Given the description of an element on the screen output the (x, y) to click on. 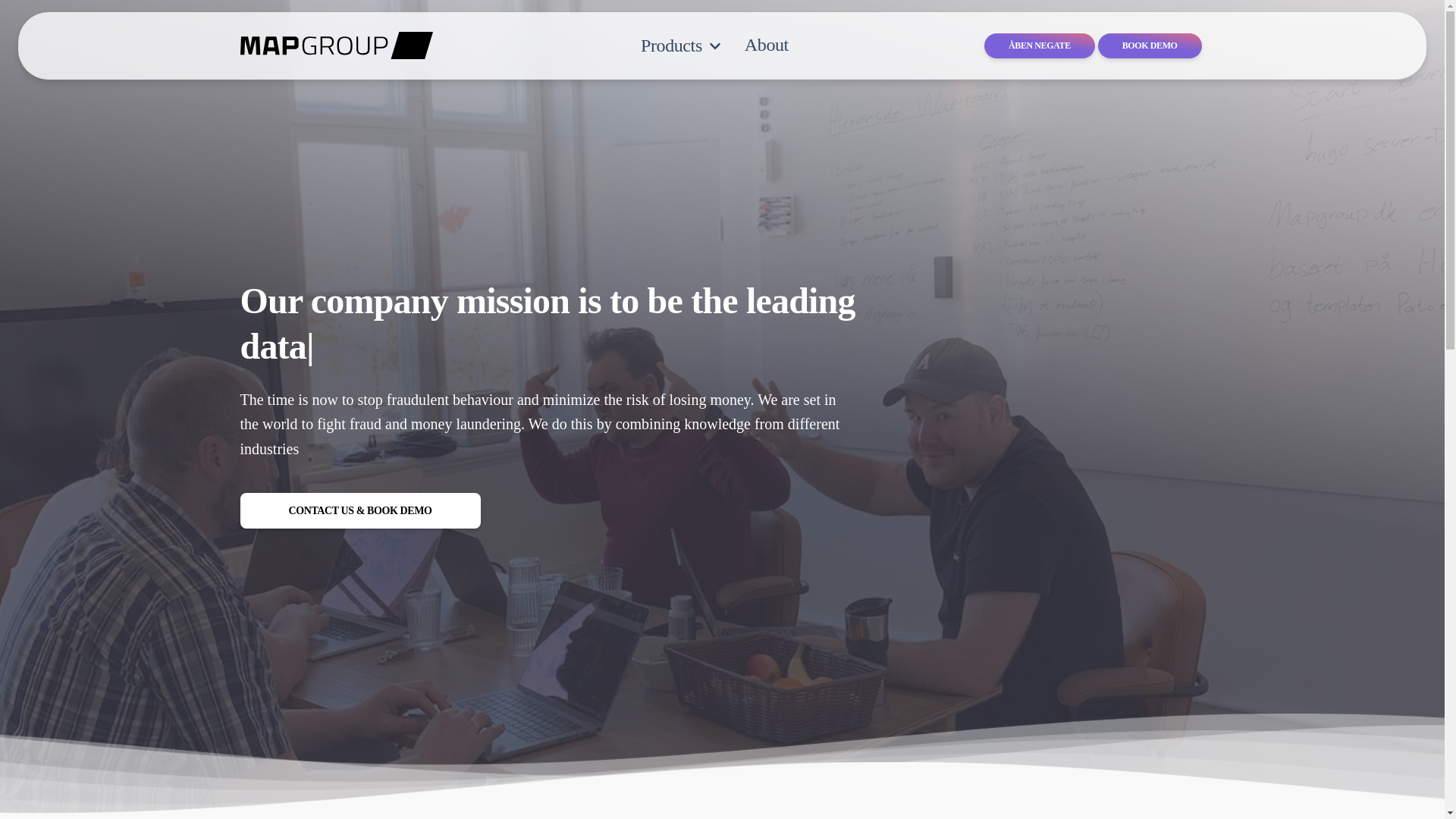
About (766, 44)
BOOK DEMO (1149, 45)
Products (680, 45)
